Given the description of an element on the screen output the (x, y) to click on. 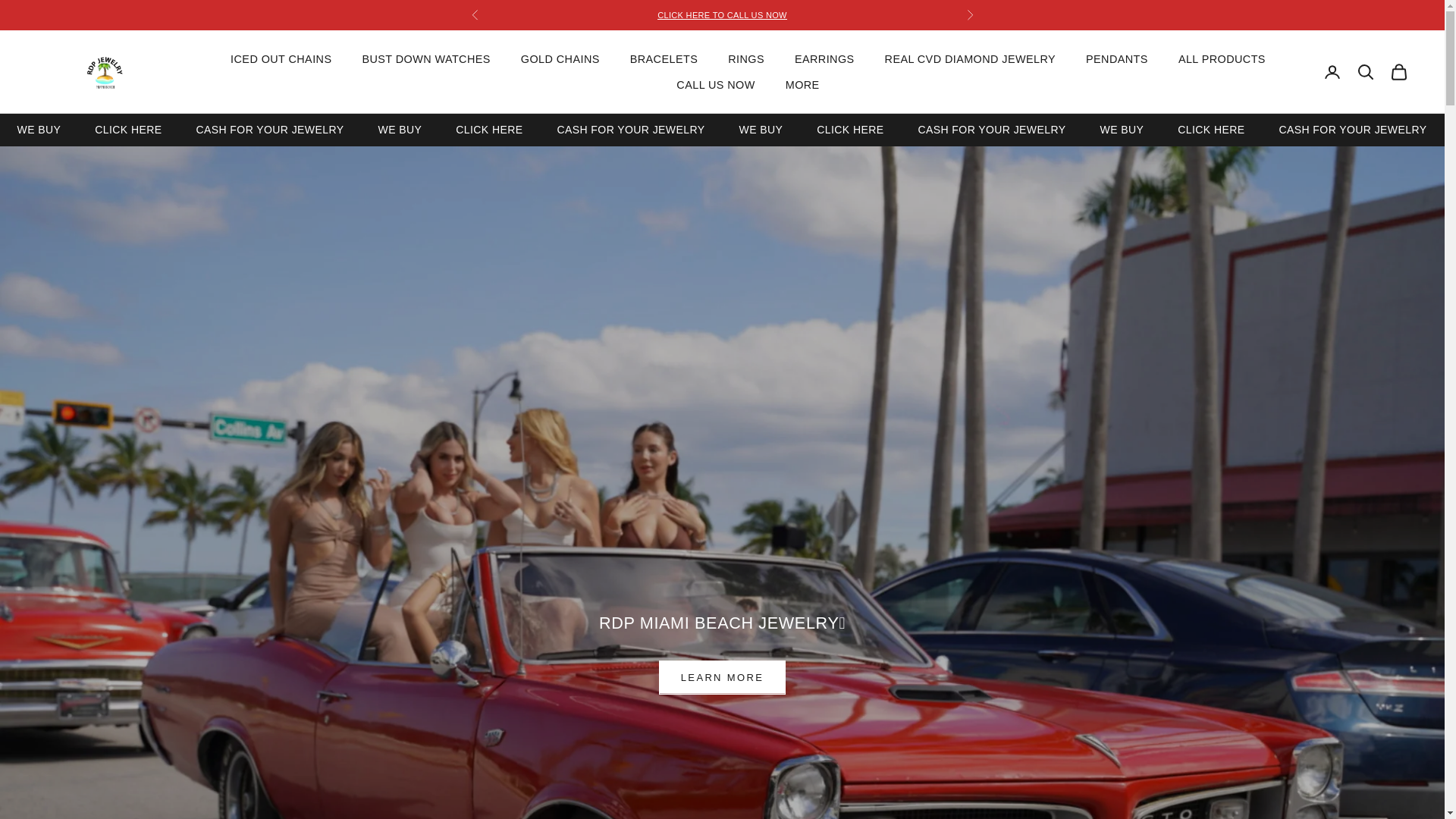
CASH FOR YOUR JEWELRY (991, 129)
CASH FOR YOUR JEWELRY (630, 129)
CASH FOR YOUR JEWELRY (269, 129)
CLICK HERE (1263, 129)
WE BUY (488, 129)
CLICK HERE (760, 129)
CLICK HERE (127, 129)
WE BUY (1210, 129)
CLICK HERE (902, 129)
CASH FOR YOUR JEWELRY (1120, 129)
RDP Miami Beach Jewelry (541, 129)
CLICK HERE TO CALL US NOW (849, 129)
